Given the description of an element on the screen output the (x, y) to click on. 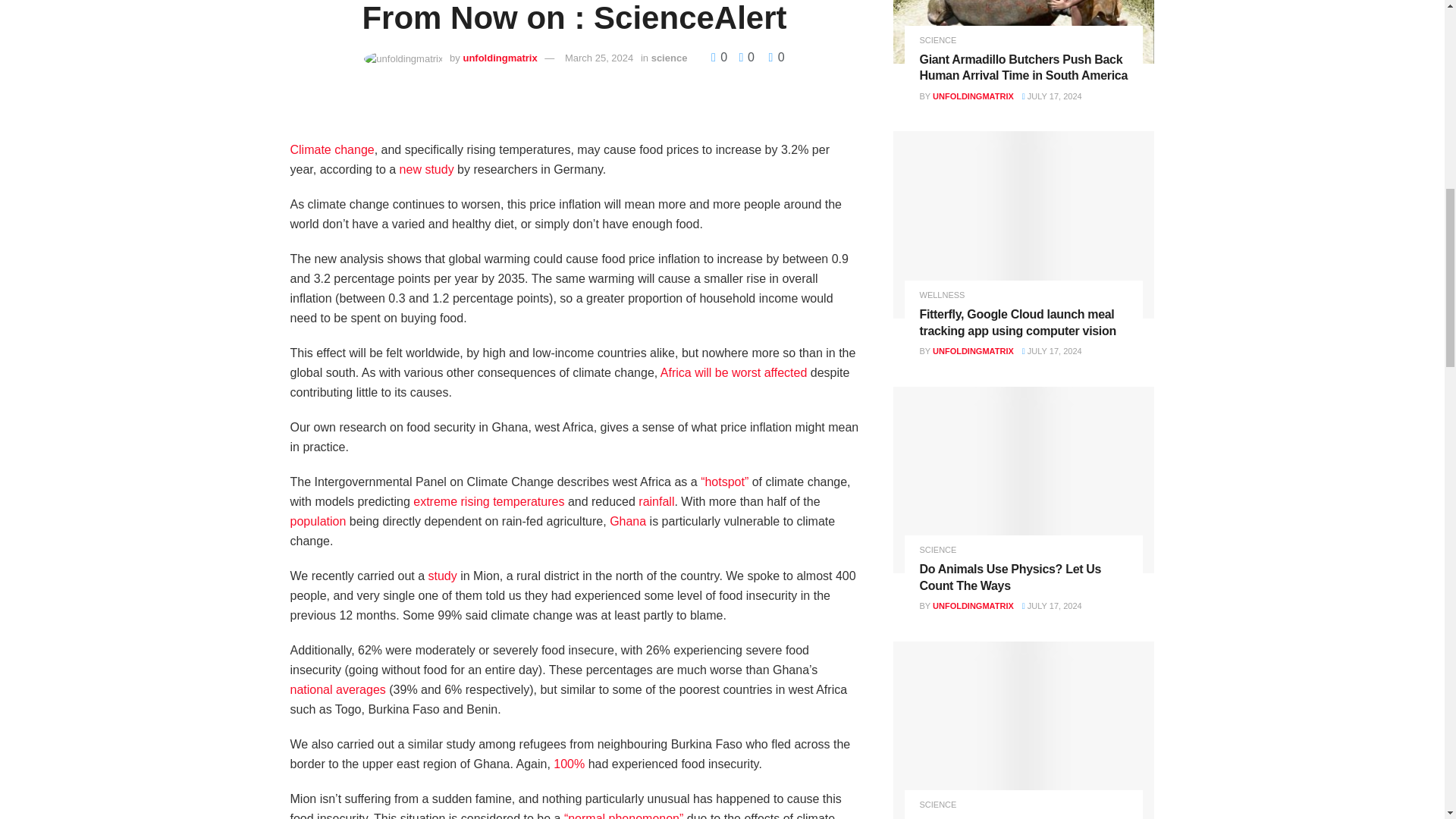
population (317, 521)
Climate change (331, 149)
science (668, 57)
0 (776, 56)
Ghana (628, 521)
unfoldingmatrix (500, 57)
extreme rising temperatures (488, 501)
rainfall (656, 501)
0 (720, 56)
0 (742, 56)
Africa will be worst affected (734, 372)
March 25, 2024 (598, 57)
new study (426, 169)
